Given the description of an element on the screen output the (x, y) to click on. 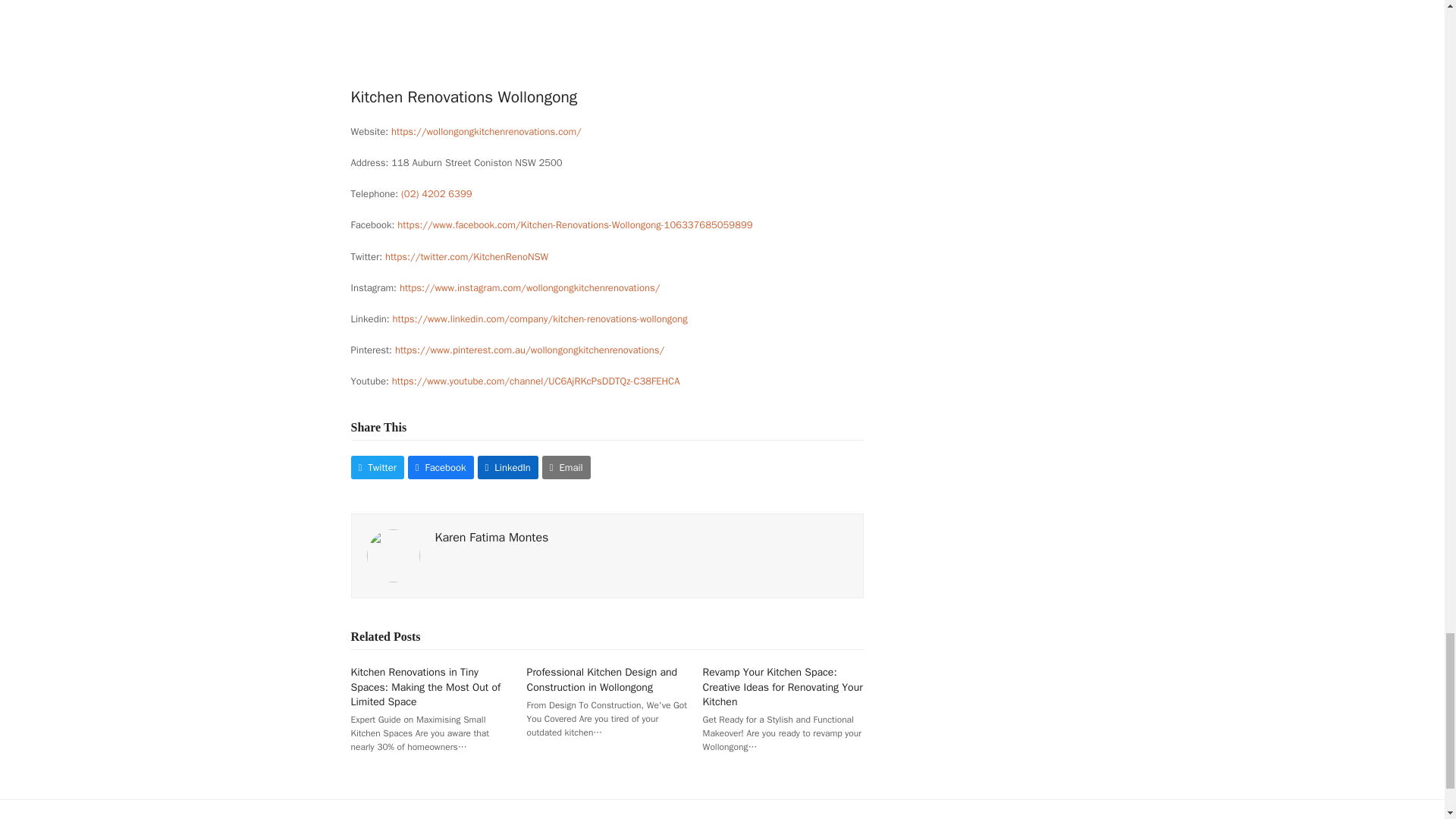
Visit Author Page (491, 537)
Visit Author Page (393, 554)
